Given the description of an element on the screen output the (x, y) to click on. 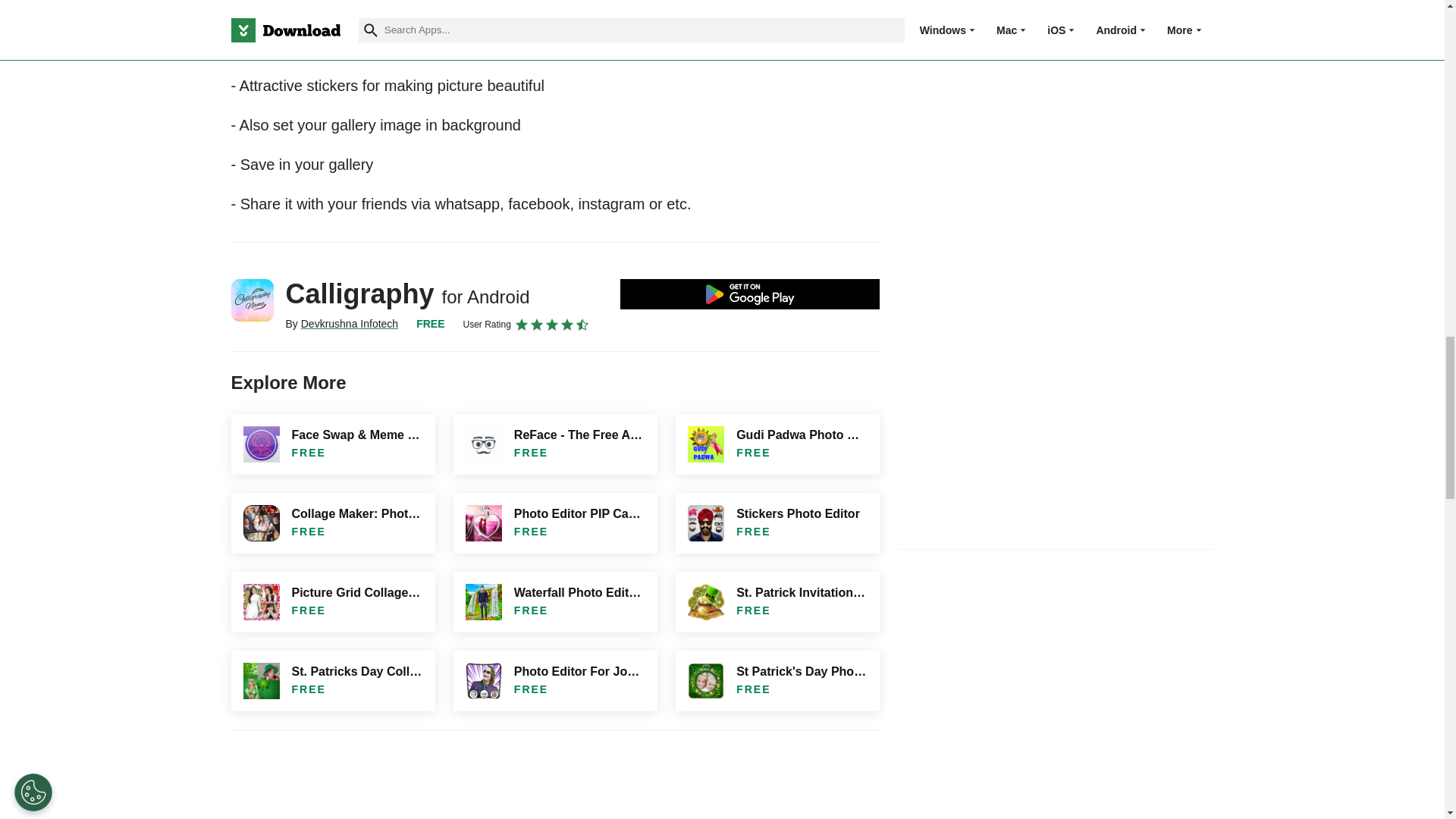
Gudi Padwa  Photo Greetings (777, 444)
Stickers Photo Editor (777, 523)
Picture Grid Collage Frame (331, 601)
Photo Editor PIP Camera (555, 523)
St. Patricks Day Collage (331, 680)
Waterfall Photo Editor - Waterfall Photo Frames (555, 601)
Collage Maker: Photo Collage Creator (331, 523)
St. Patrick Invitation Cards (777, 601)
St Patrick's Day  Photo Frames (777, 680)
ReFace - The Free AI Face Editor (555, 444)
Photo Editor For Joker Mask (555, 680)
Get it on Google Play (750, 294)
